Given the description of an element on the screen output the (x, y) to click on. 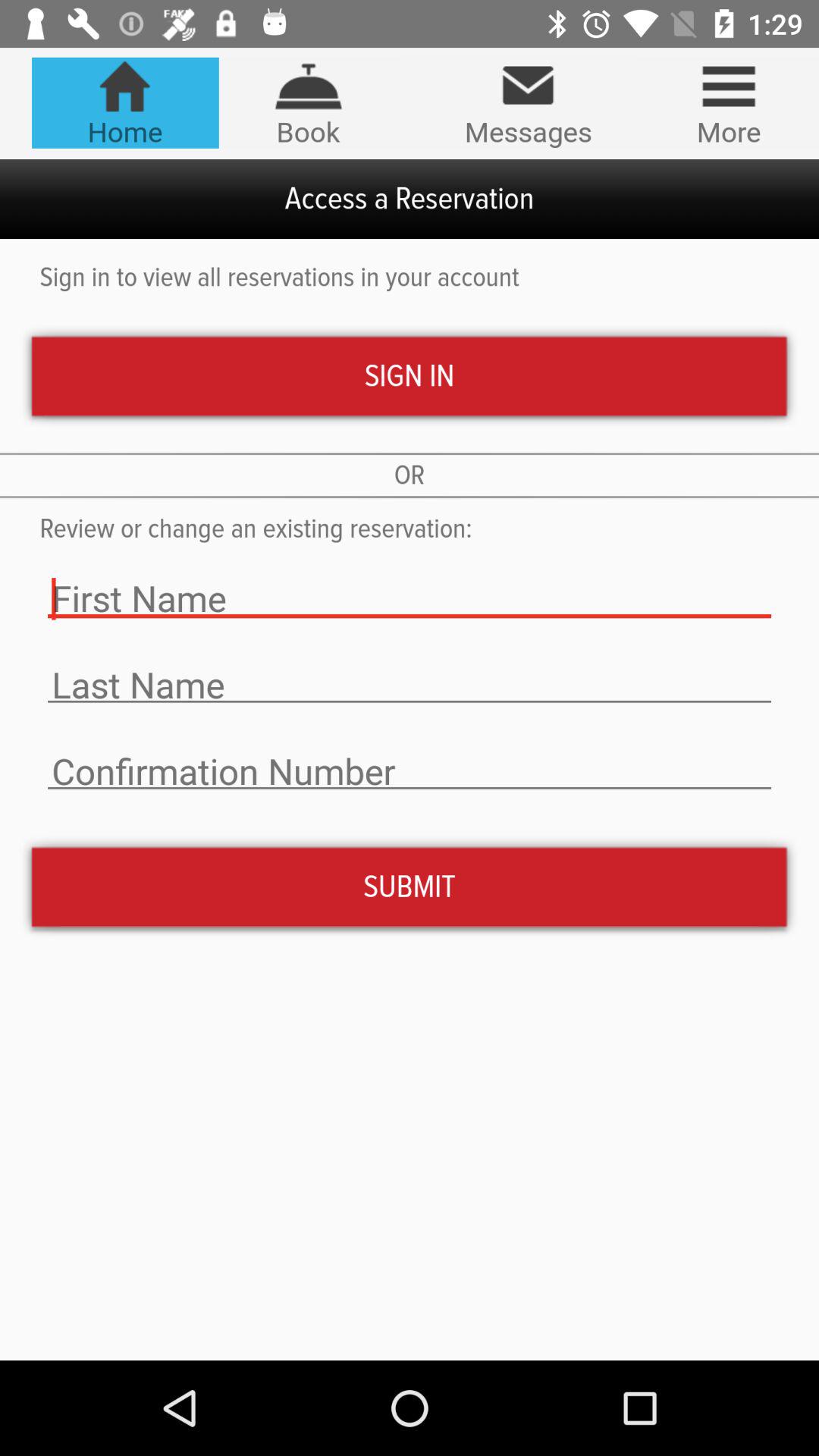
click on the text field last name (409, 684)
click on the text field first name (409, 598)
select the tab book on the web page (308, 103)
click on the confirmation number field (409, 771)
click on more with its icon above (728, 103)
